Given the description of an element on the screen output the (x, y) to click on. 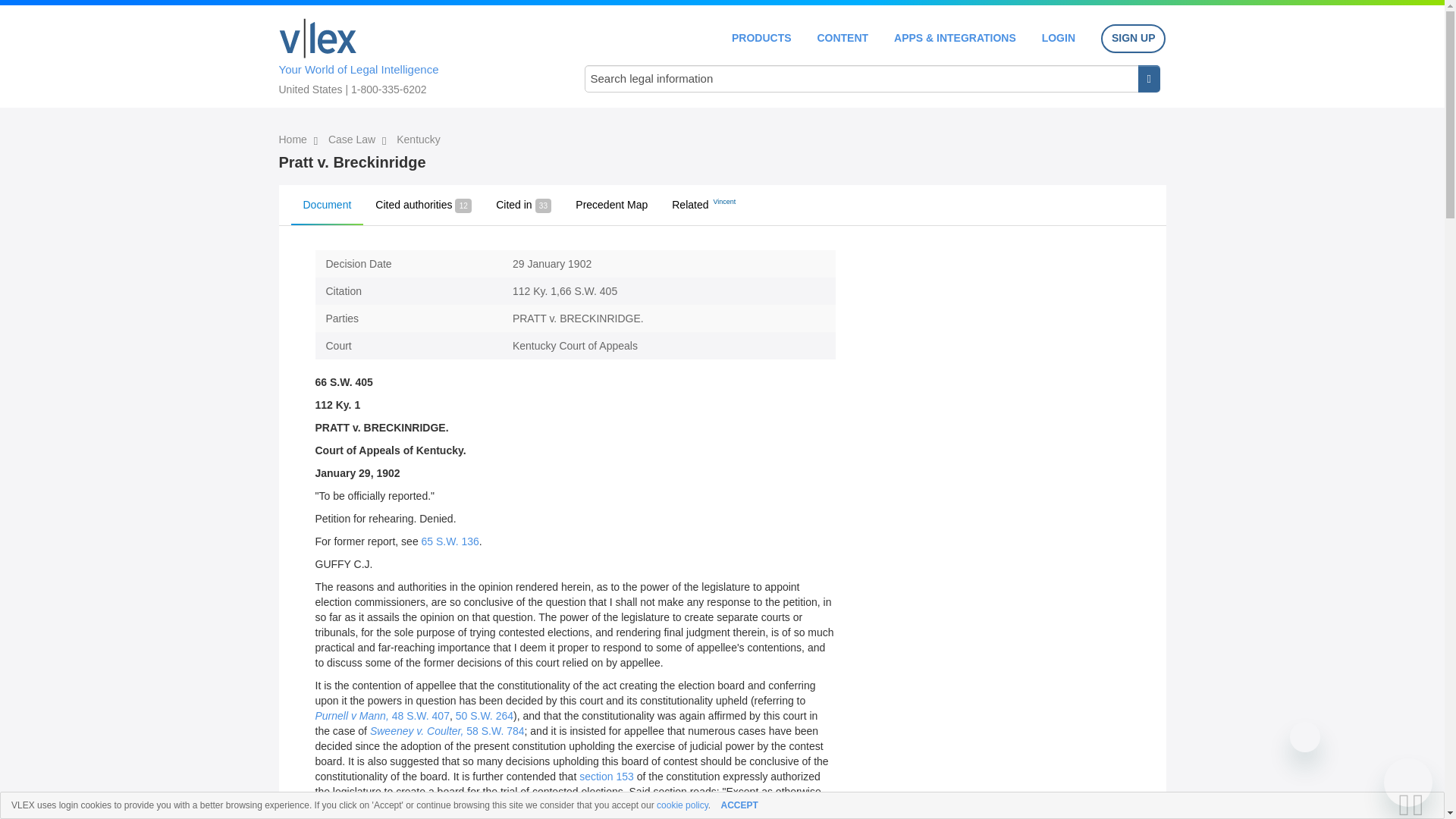
Purnell v Mann, 48 S.W. 407 (382, 715)
Home (294, 139)
Case Law (353, 139)
Your World of Legal Intelligence (416, 53)
LOGIN (1058, 37)
CONTENT (841, 37)
50 S.W. 264 (484, 715)
section 153 (606, 776)
Sweeney v. Coulter, 58 S.W. 784 (446, 730)
Kentucky (418, 139)
Home (317, 38)
65 S.W. 136 (450, 541)
SIGN UP (1133, 38)
PRODUCTS (762, 37)
